Given the description of an element on the screen output the (x, y) to click on. 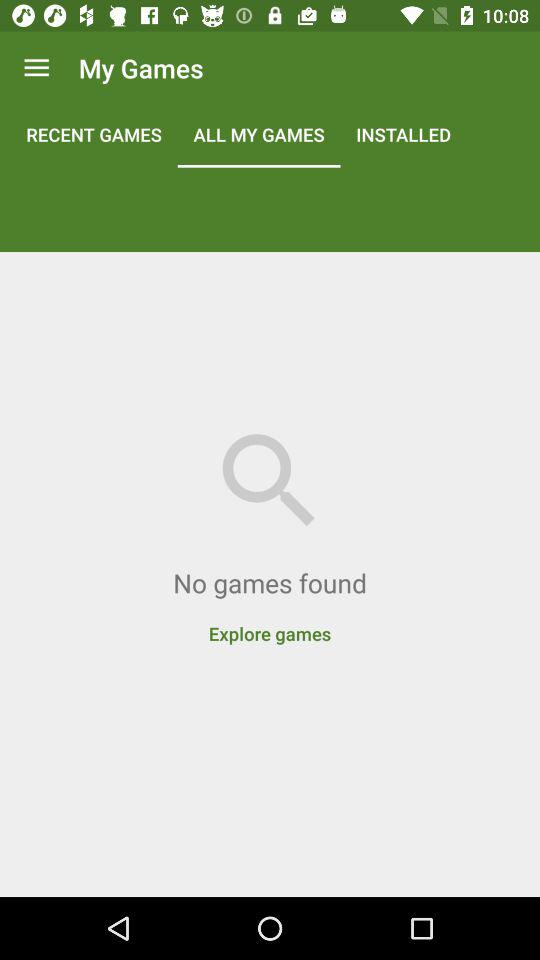
turn on app to the left of my games icon (36, 68)
